Given the description of an element on the screen output the (x, y) to click on. 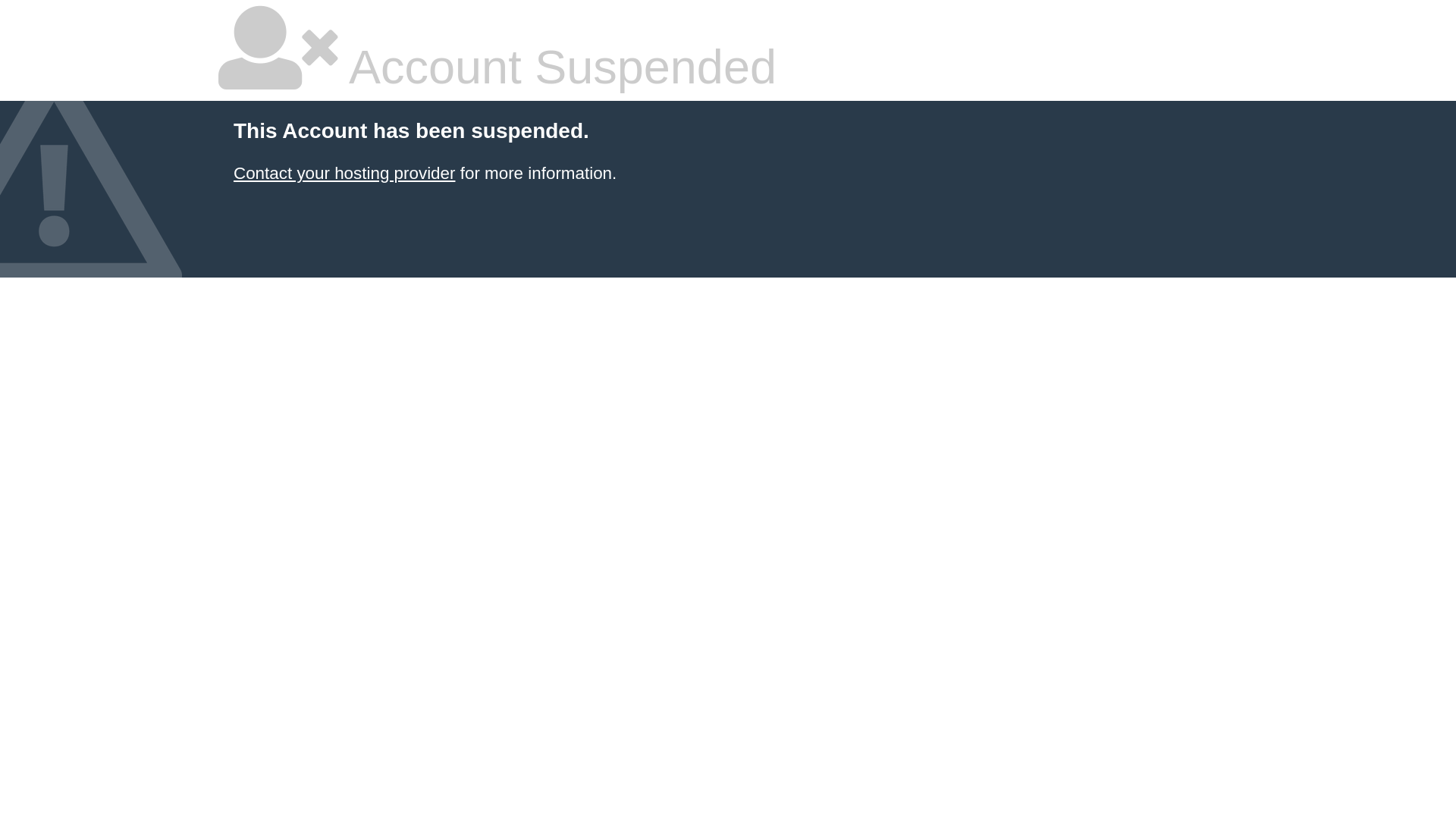
Contact your hosting provider Element type: text (344, 172)
